Given the description of an element on the screen output the (x, y) to click on. 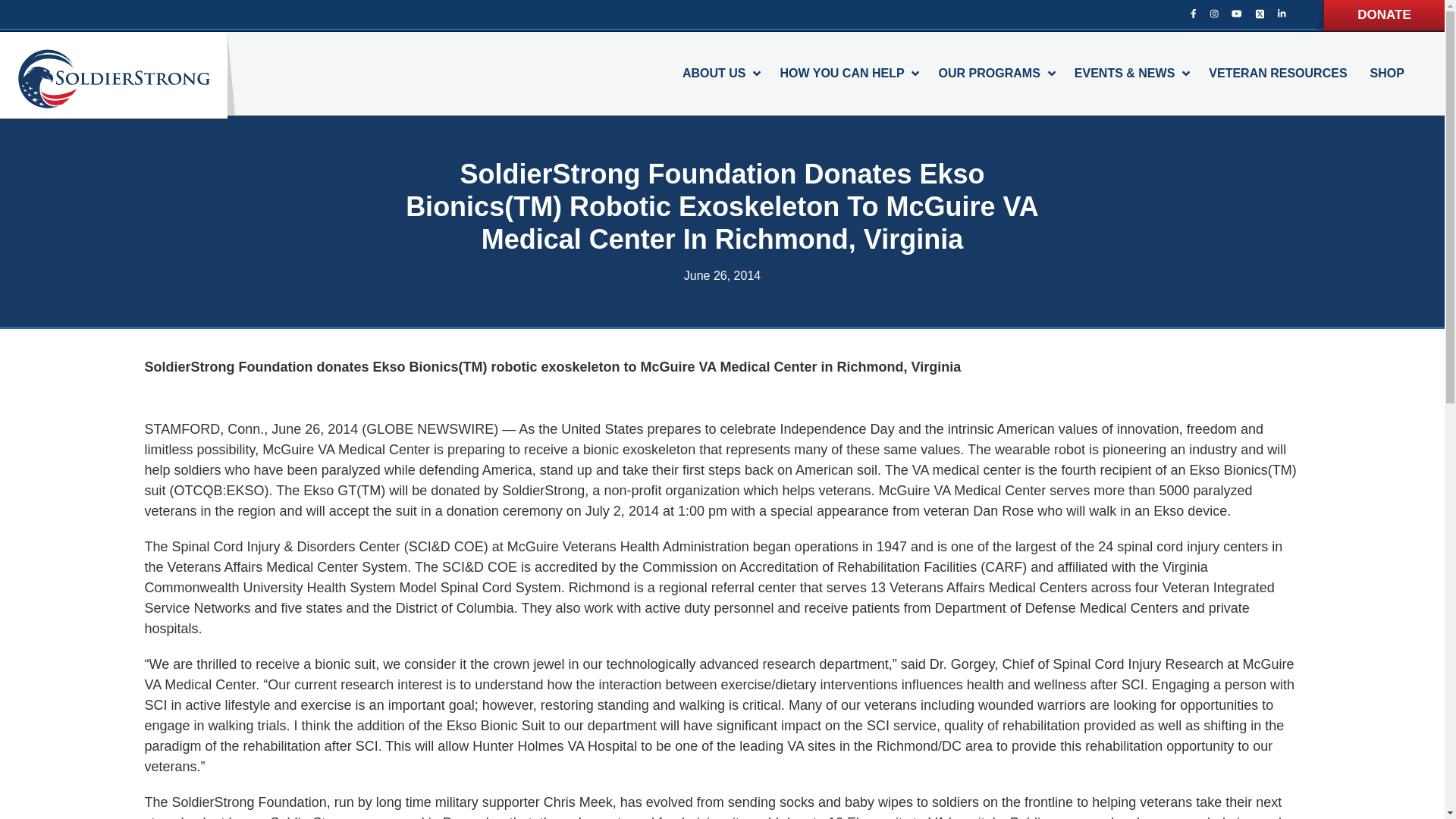
VETERAN RESOURCES (1277, 73)
HOW YOU CAN HELP (847, 73)
ABOUT US (719, 73)
OUR PROGRAMS (994, 73)
